Given the description of an element on the screen output the (x, y) to click on. 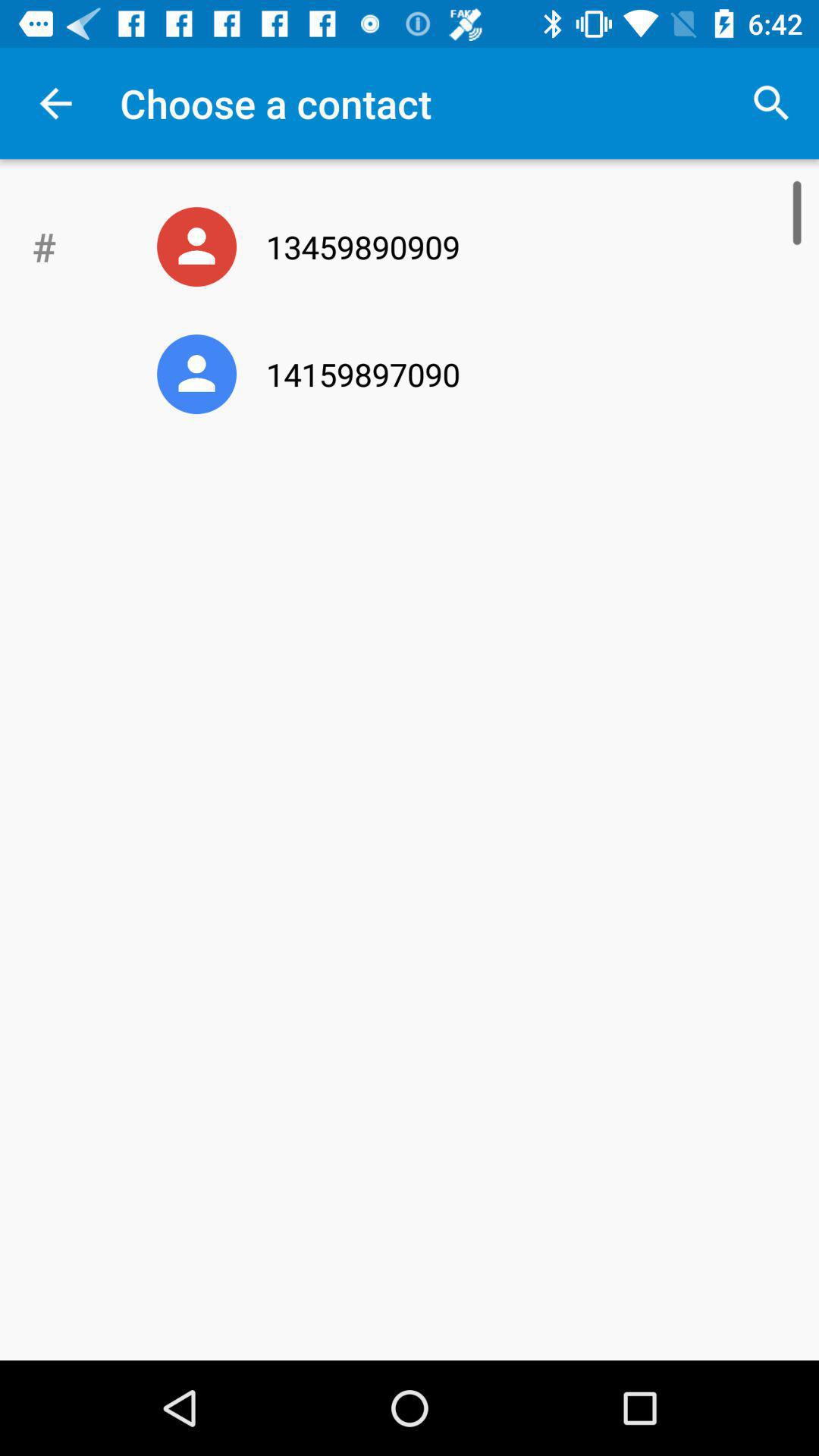
open app to the right of choose a contact item (771, 103)
